Given the description of an element on the screen output the (x, y) to click on. 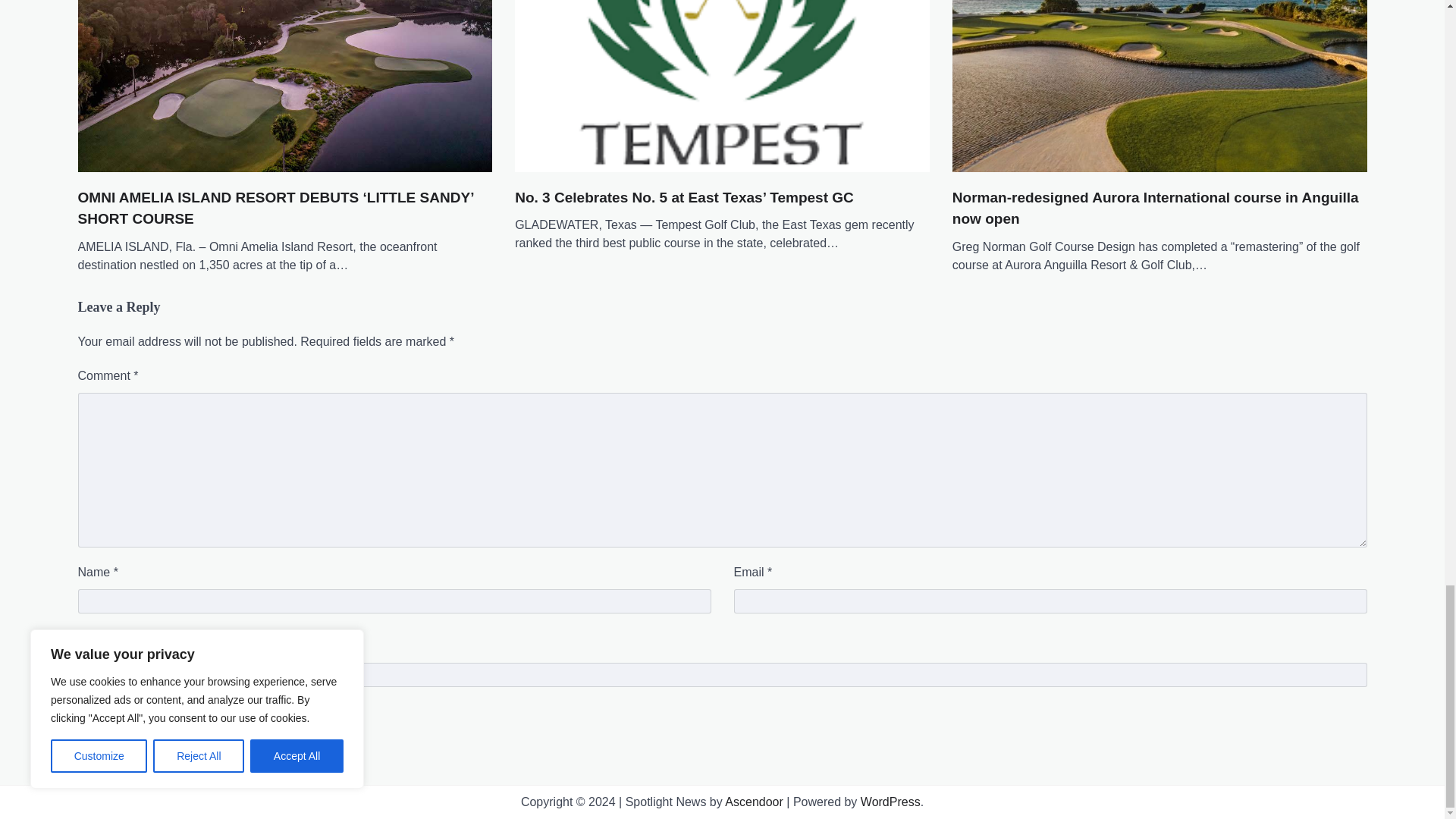
Post Comment (124, 722)
